Given the description of an element on the screen output the (x, y) to click on. 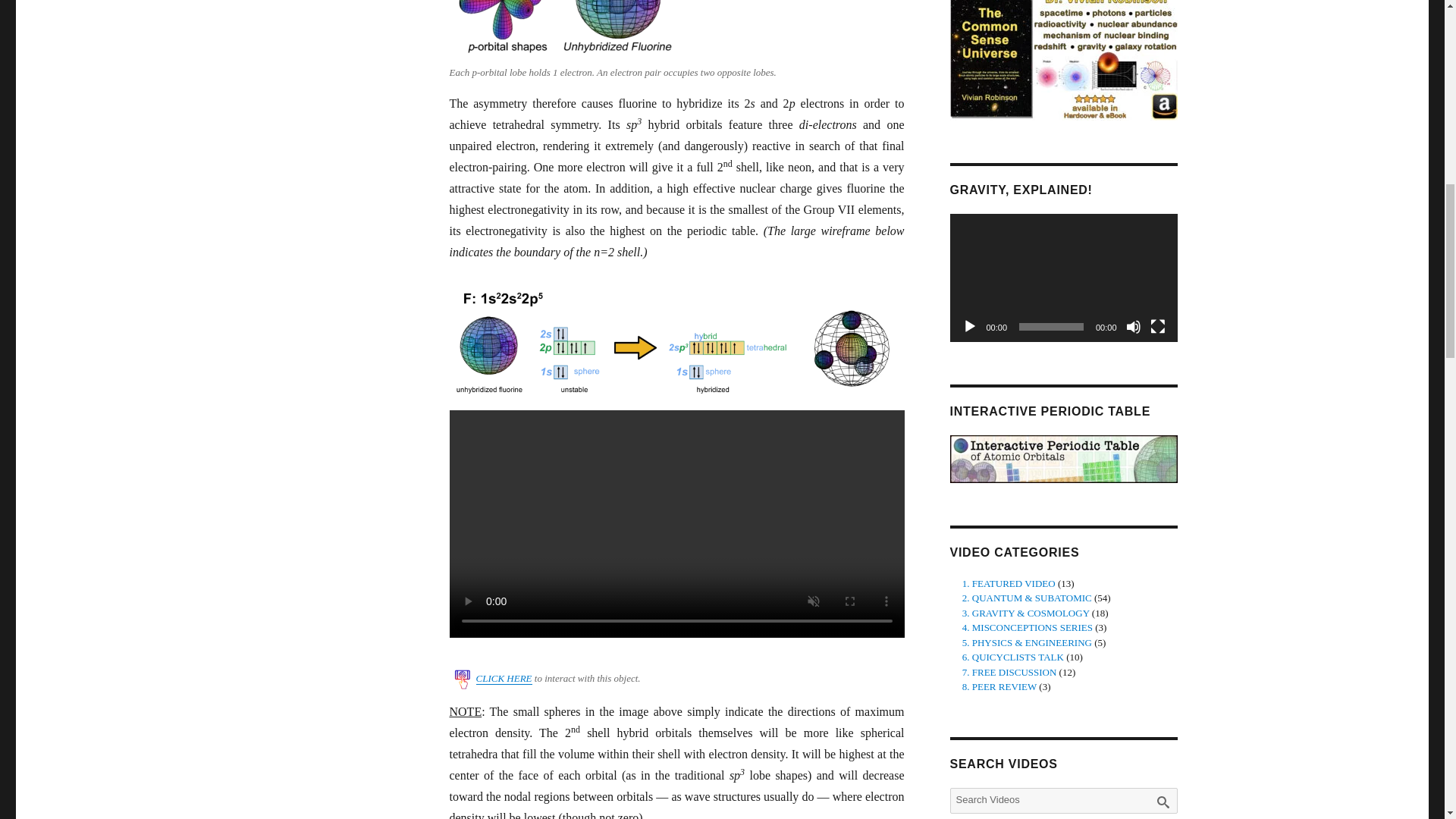
Fullscreen (1157, 326)
Play (968, 326)
Mute (1132, 326)
